Given the description of an element on the screen output the (x, y) to click on. 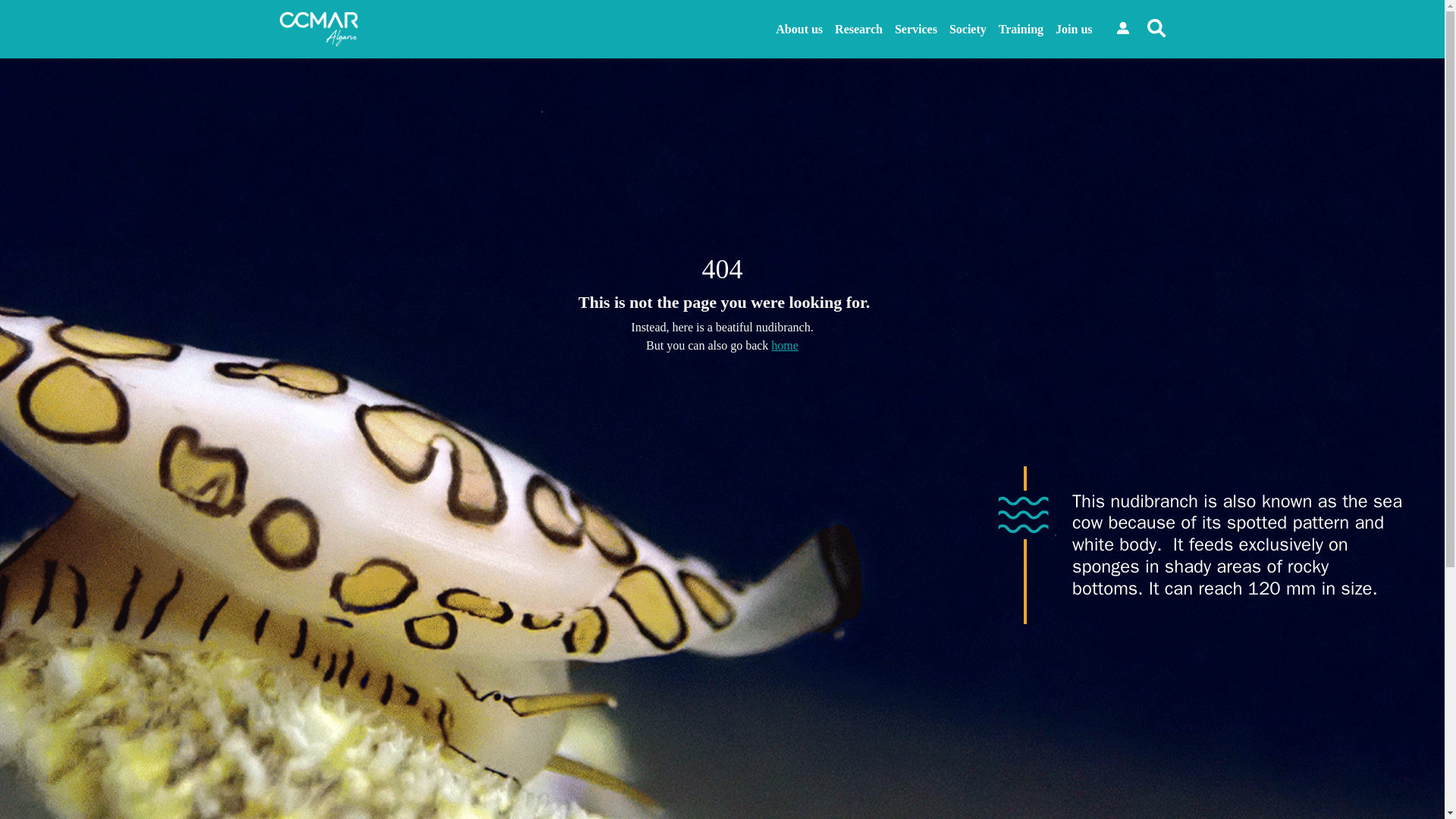
Home (784, 345)
User (1122, 28)
